Given the description of an element on the screen output the (x, y) to click on. 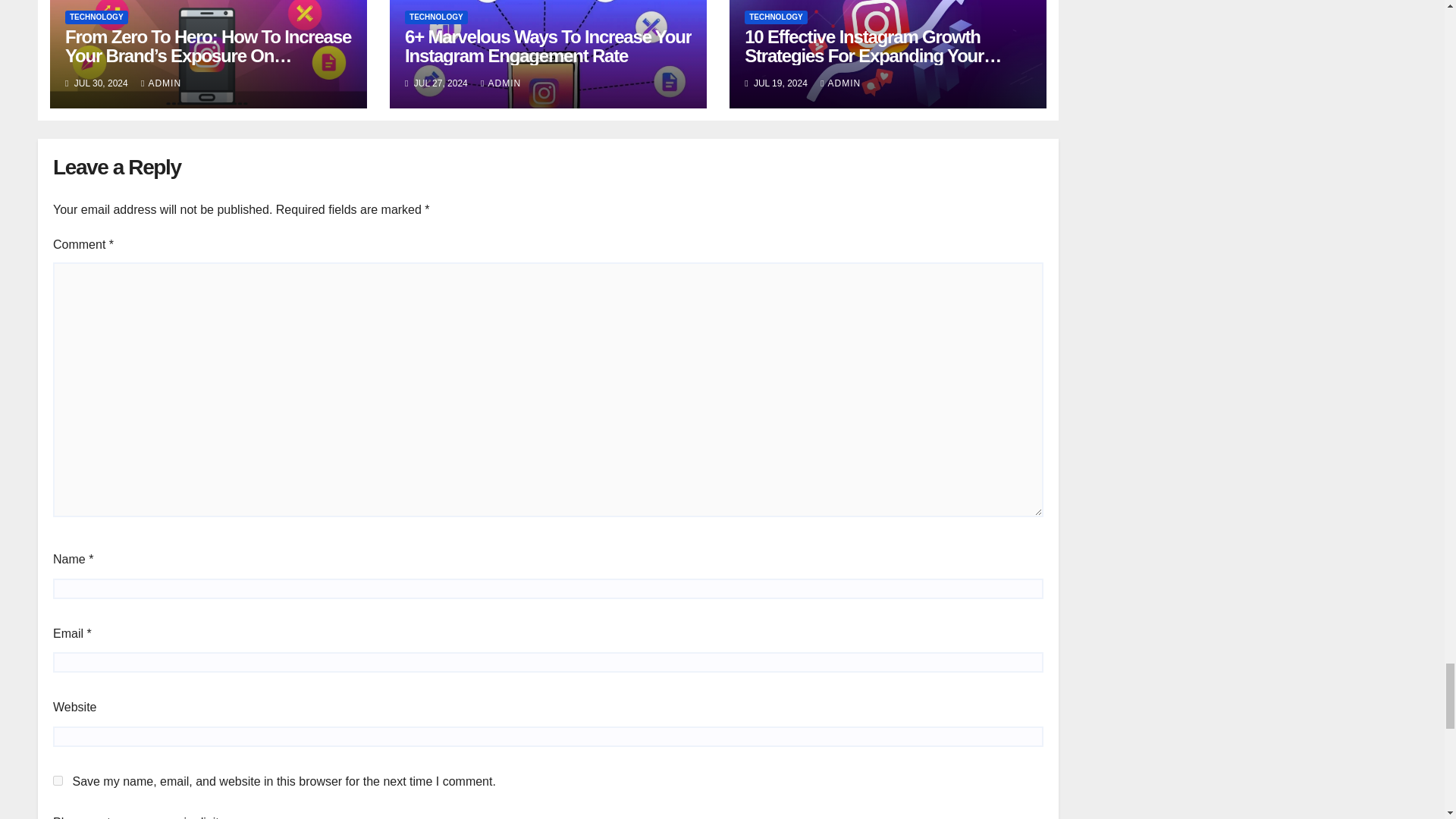
TECHNOLOGY (96, 17)
yes (57, 780)
